Given the description of an element on the screen output the (x, y) to click on. 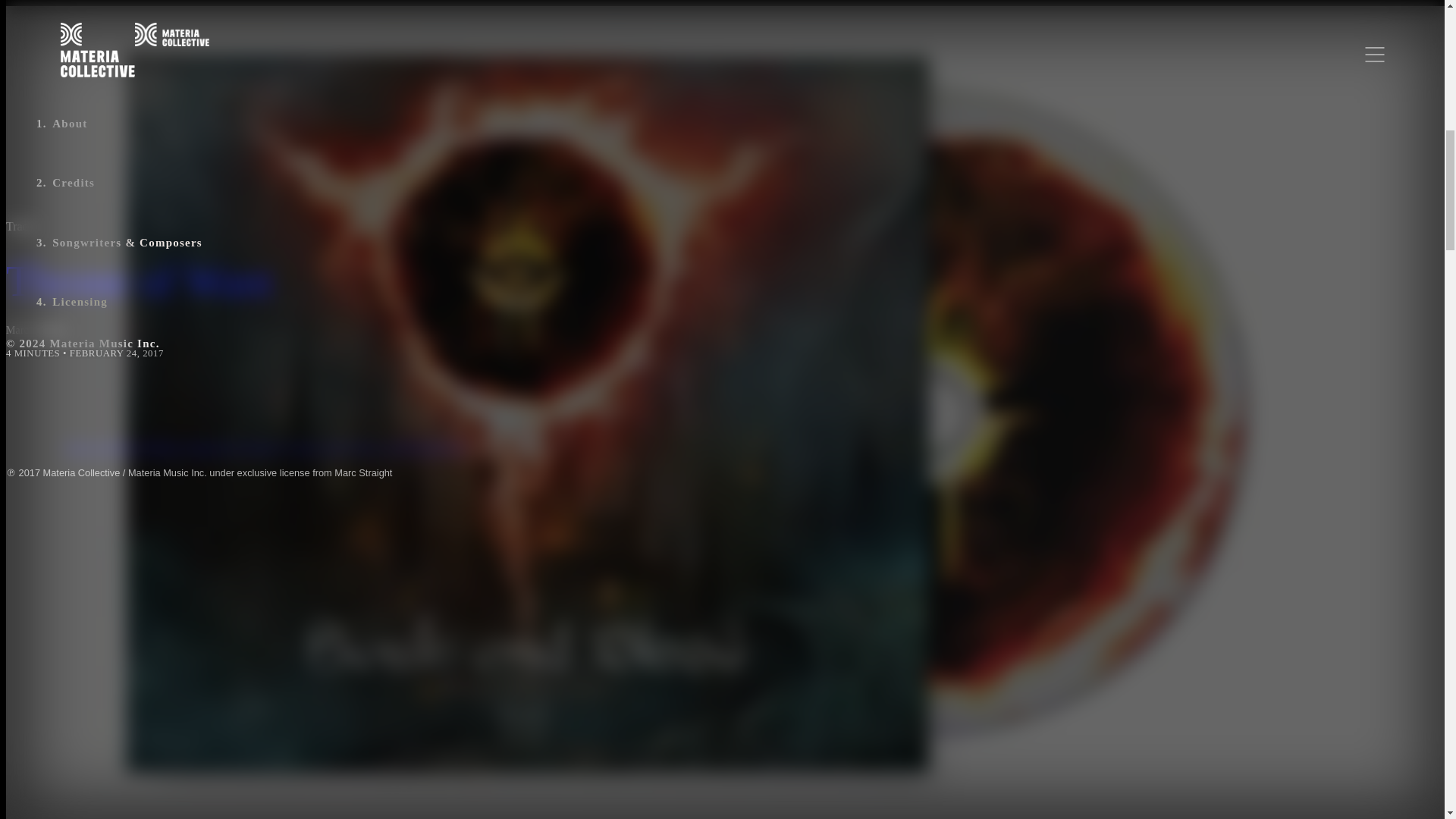
Marc Straight (34, 329)
Throne of Want (263, 281)
Throne of Want (263, 281)
